Given the description of an element on the screen output the (x, y) to click on. 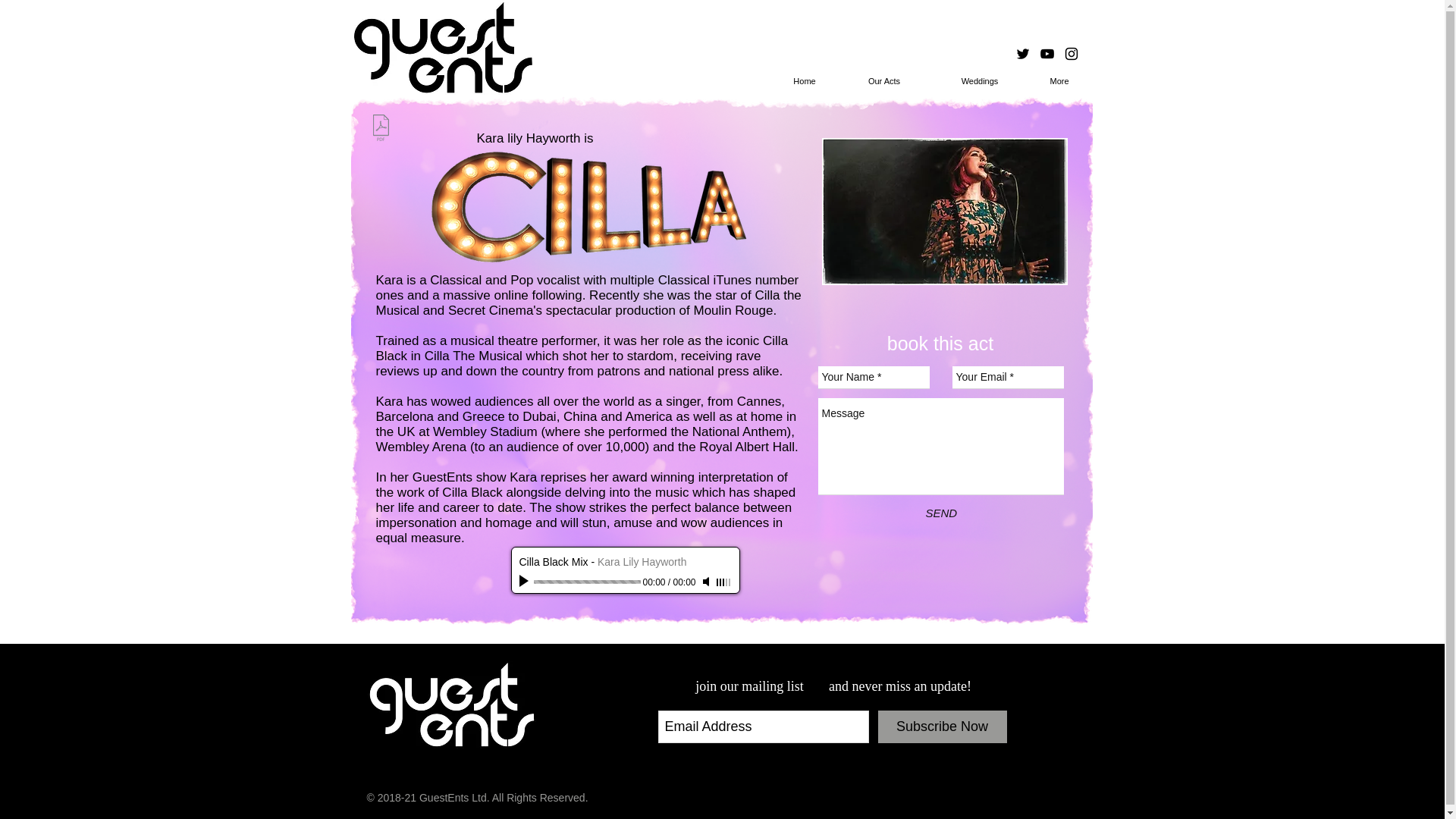
Home (803, 80)
Weddings (979, 80)
SEND (940, 512)
Subscribe Now (942, 726)
Our Acts (884, 80)
0 (587, 581)
